Given the description of an element on the screen output the (x, y) to click on. 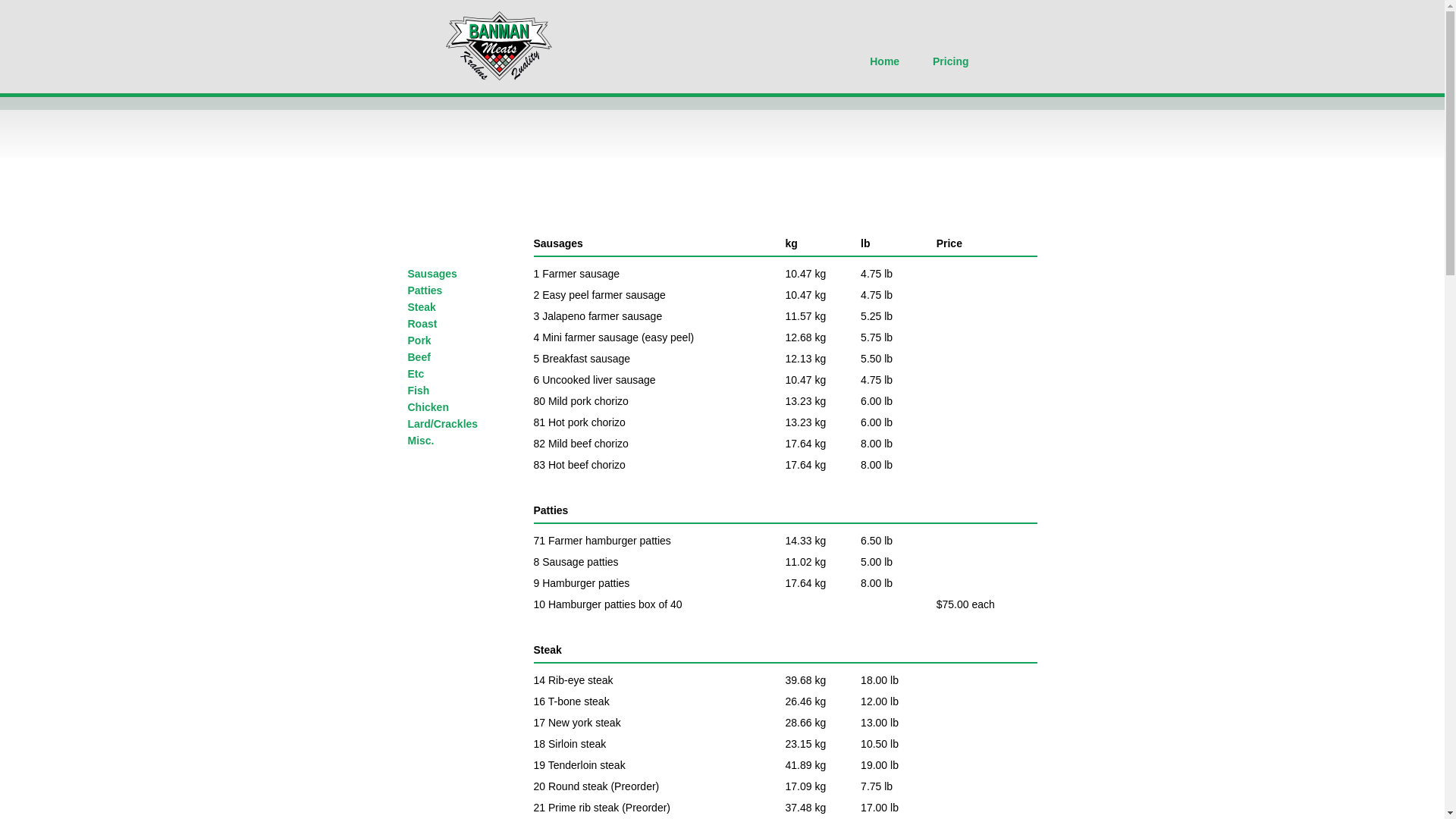
Pricing Element type: text (950, 61)
Beef Element type: text (418, 357)
Sausages Element type: text (432, 273)
Patties Element type: text (424, 290)
Fish Element type: text (418, 390)
Etc Element type: text (415, 373)
Home Element type: text (884, 61)
Chicken Element type: text (427, 407)
Pork Element type: text (419, 340)
Lard/Crackles Element type: text (442, 423)
Misc. Element type: text (420, 440)
Steak Element type: text (421, 307)
Roast Element type: text (422, 323)
